Given the description of an element on the screen output the (x, y) to click on. 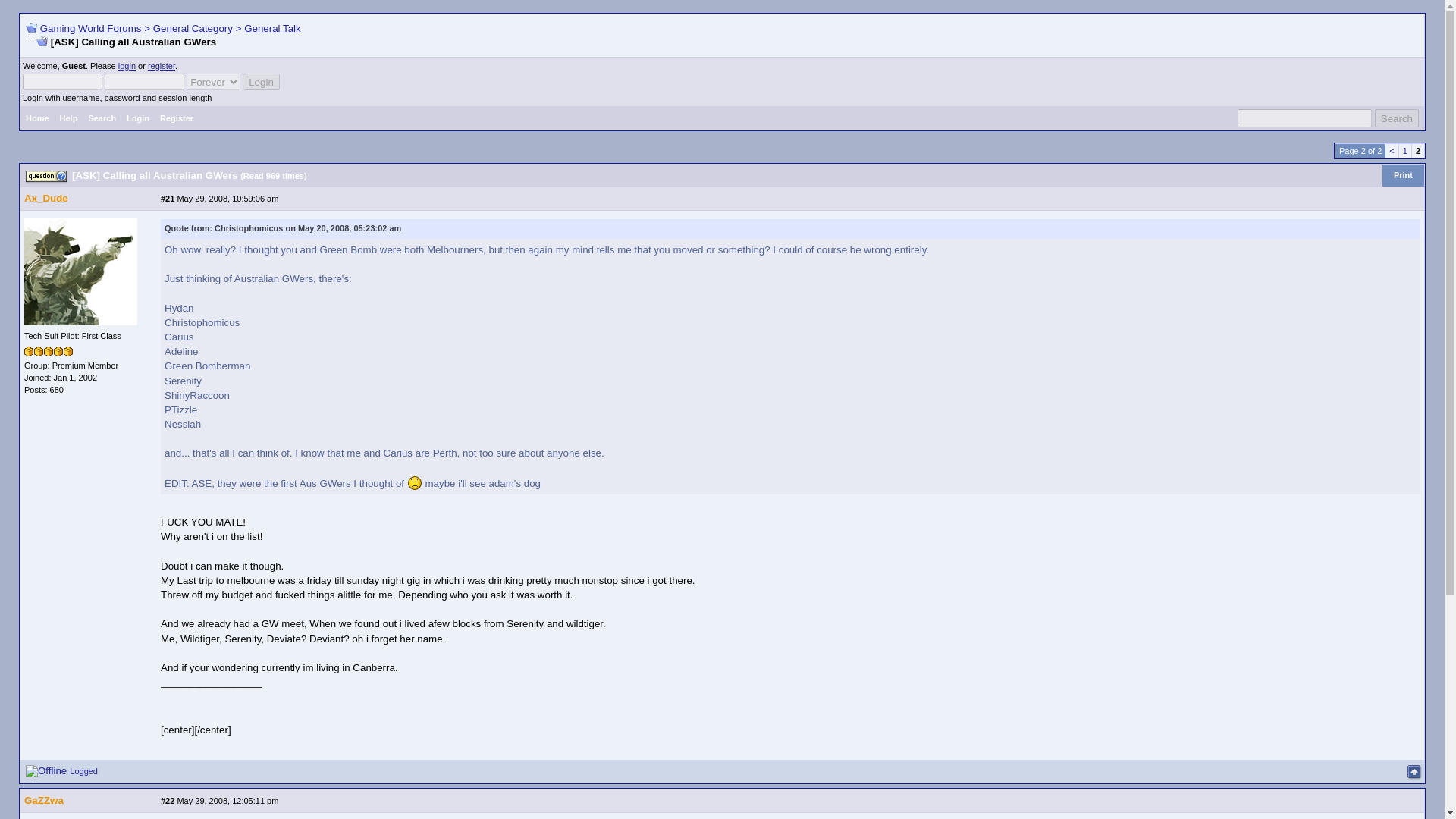
Offline (46, 770)
Login (261, 81)
Quote from: Christophomicus on May 20, 2008, 05:23:02 am (282, 227)
Sad (414, 482)
Logged (84, 770)
Login (137, 118)
General Talk (272, 28)
Question (46, 175)
Help (68, 118)
GaZZwa (44, 799)
Register (176, 118)
1 (1405, 151)
Login (261, 81)
Print (1402, 175)
Search (1396, 117)
